Given the description of an element on the screen output the (x, y) to click on. 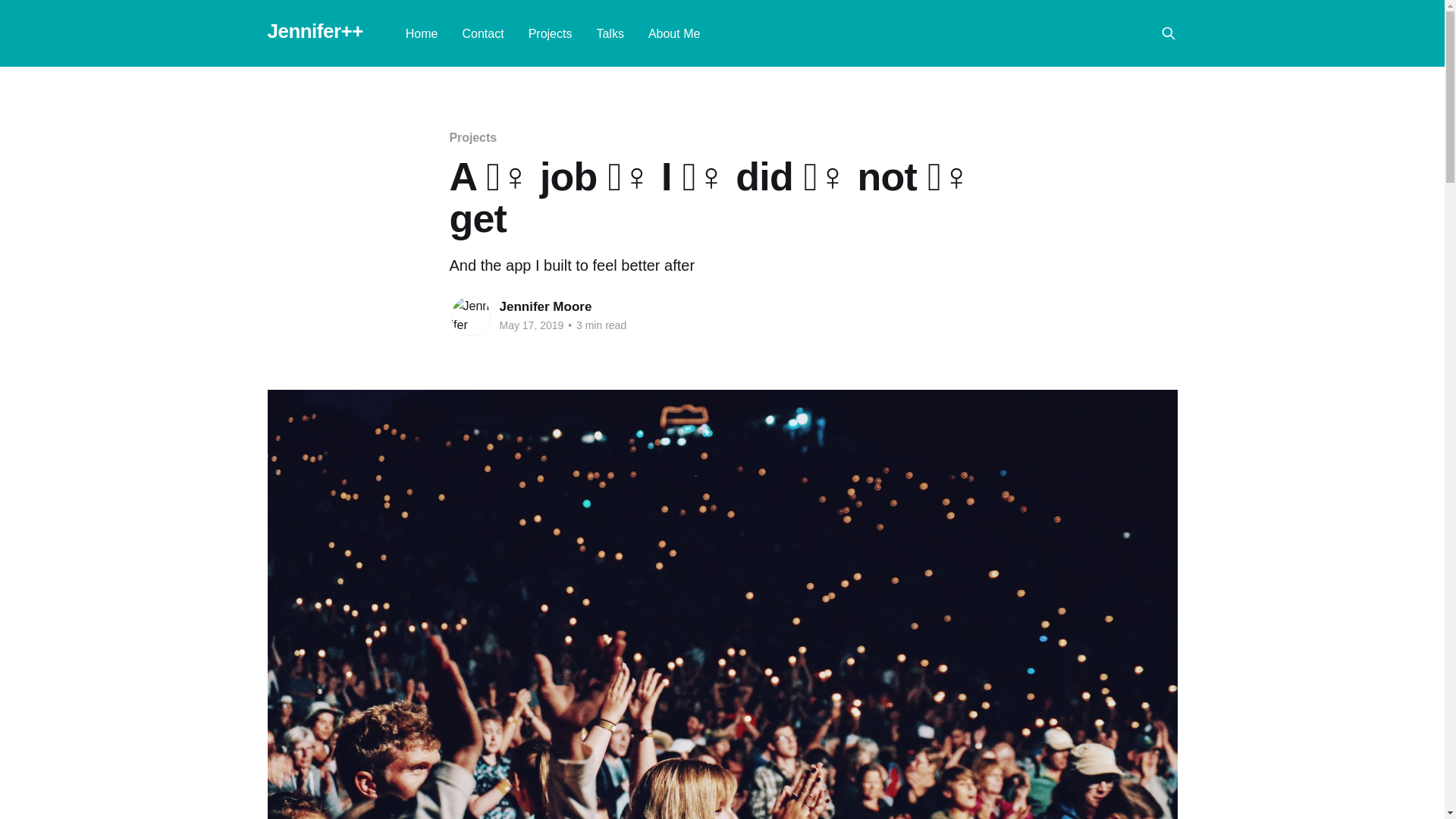
Contact (483, 33)
Jennifer Moore (545, 306)
Talks (609, 33)
Home (422, 33)
About Me (673, 33)
Projects (472, 137)
Projects (550, 33)
